Given the description of an element on the screen output the (x, y) to click on. 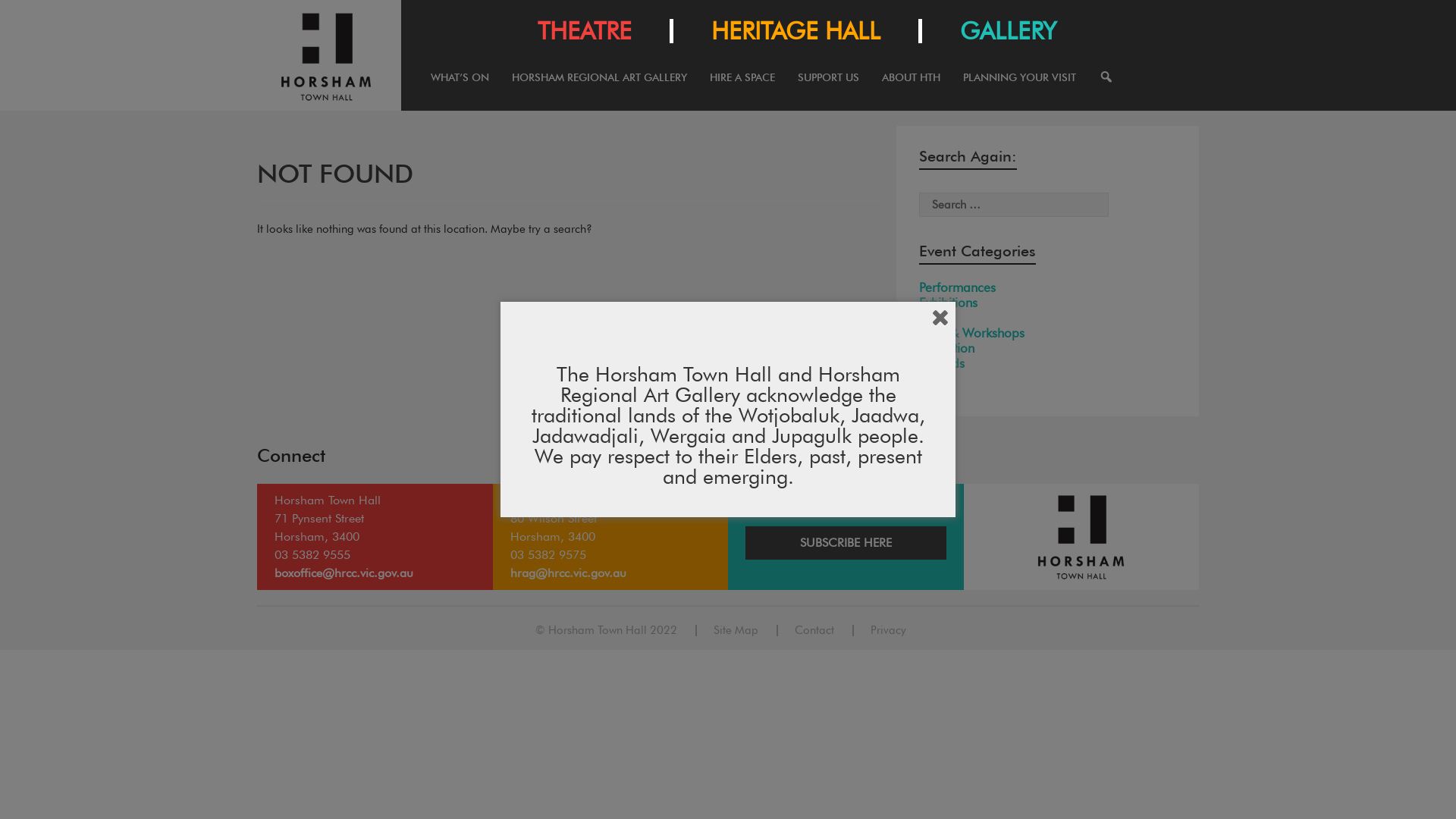
GALLERY Element type: text (1008, 30)
Events Element type: text (1047, 317)
Search Element type: text (23, 9)
PLANNING YOUR VISIT Element type: text (1019, 87)
Talks & Workshops Element type: text (1047, 332)
Contact Element type: text (814, 630)
SUBSCRIBE HERE Element type: text (845, 542)
ABOUT HTH Element type: text (910, 87)
Privacy Element type: text (888, 630)
boxoffice@hrcc.vic.gov.au Element type: text (343, 572)
SEARCH Element type: text (1106, 87)
HIRE A SPACE Element type: text (742, 87)
For Kids Element type: text (1047, 362)
Performances Element type: text (1047, 286)
THEATRE Element type: text (584, 30)
HORSHAM REGIONAL ART GALLERY Element type: text (599, 87)
Exhibitions Element type: text (1047, 302)
Site Map Element type: text (734, 630)
hrag@hrcc.vic.gov.au Element type: text (567, 572)
SUPPORT US Element type: text (828, 87)
HERITAGE HALL Element type: text (795, 30)
Education Element type: text (1047, 347)
